Given the description of an element on the screen output the (x, y) to click on. 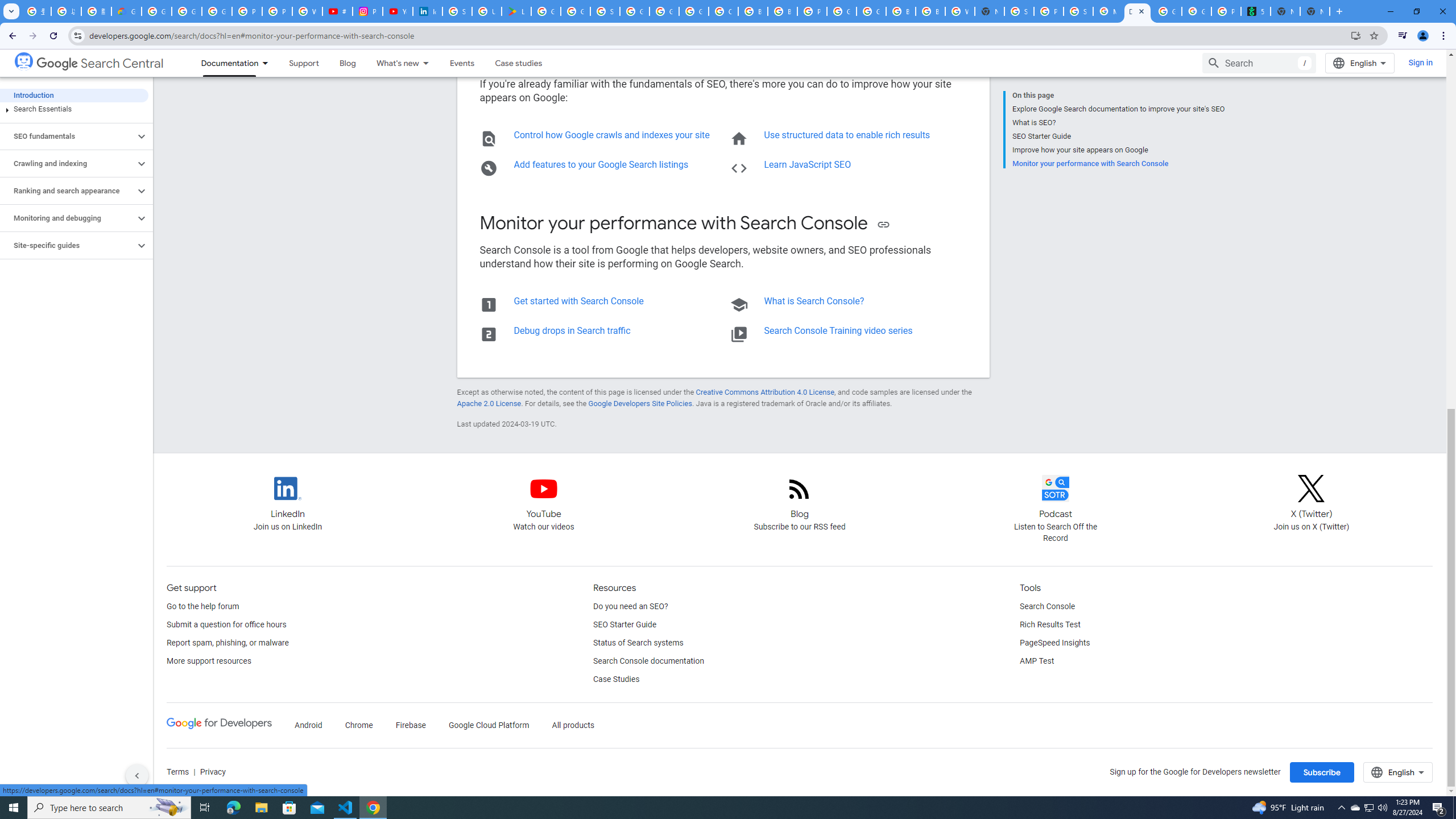
New Tab (1314, 11)
Learn JavaScript SEO (807, 164)
Sign in - Google Accounts (456, 11)
Creative Commons Attribution 4.0 License (764, 392)
